Given the description of an element on the screen output the (x, y) to click on. 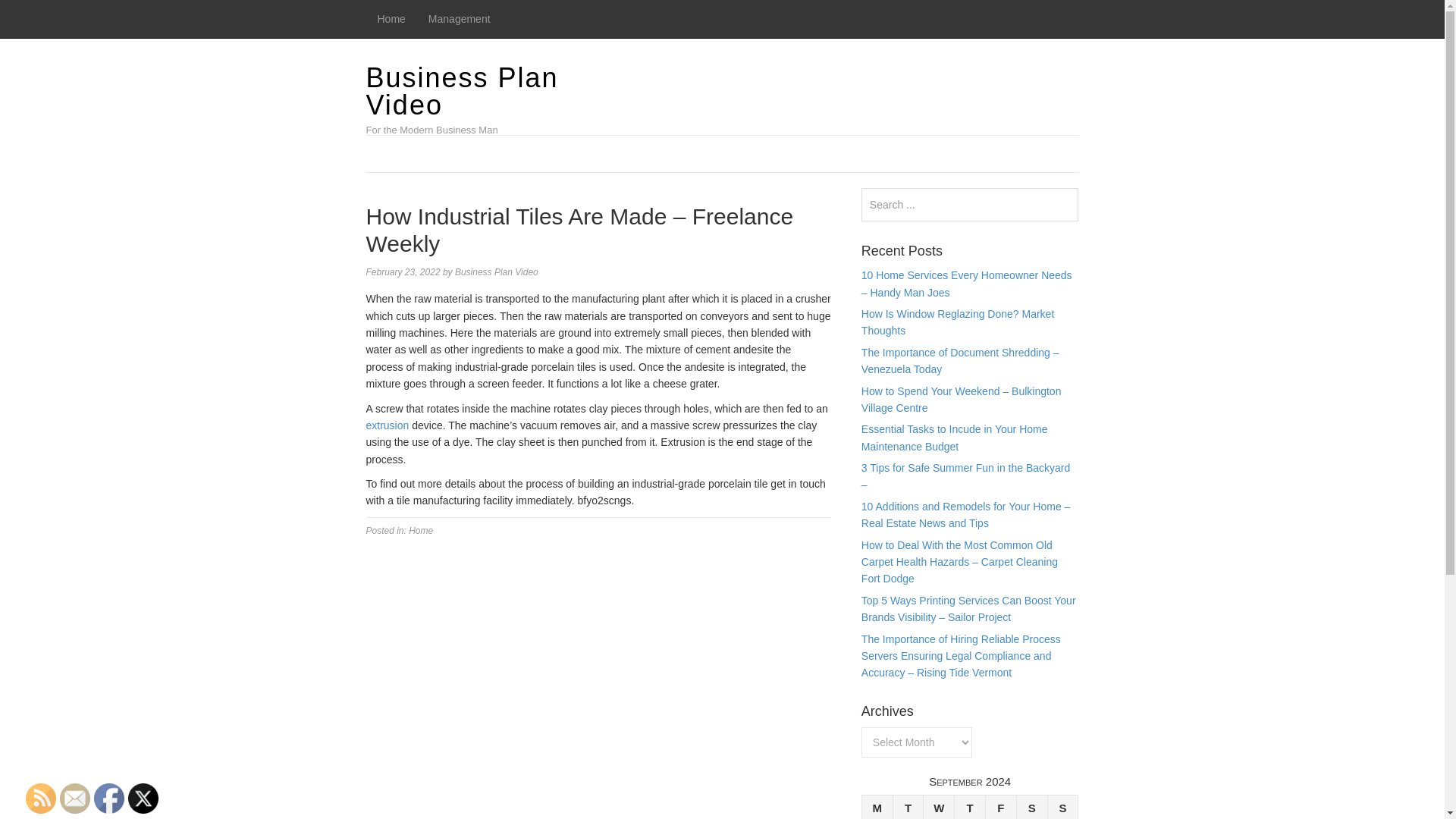
Thursday (970, 806)
extrusion (387, 425)
Posts by Business Plan Video (496, 271)
Home (390, 18)
Tuesday (907, 806)
Home (390, 18)
Essential Tasks to Incude in Your Home Maintenance Budget (954, 437)
Management (459, 18)
Sunday (1062, 806)
